Given the description of an element on the screen output the (x, y) to click on. 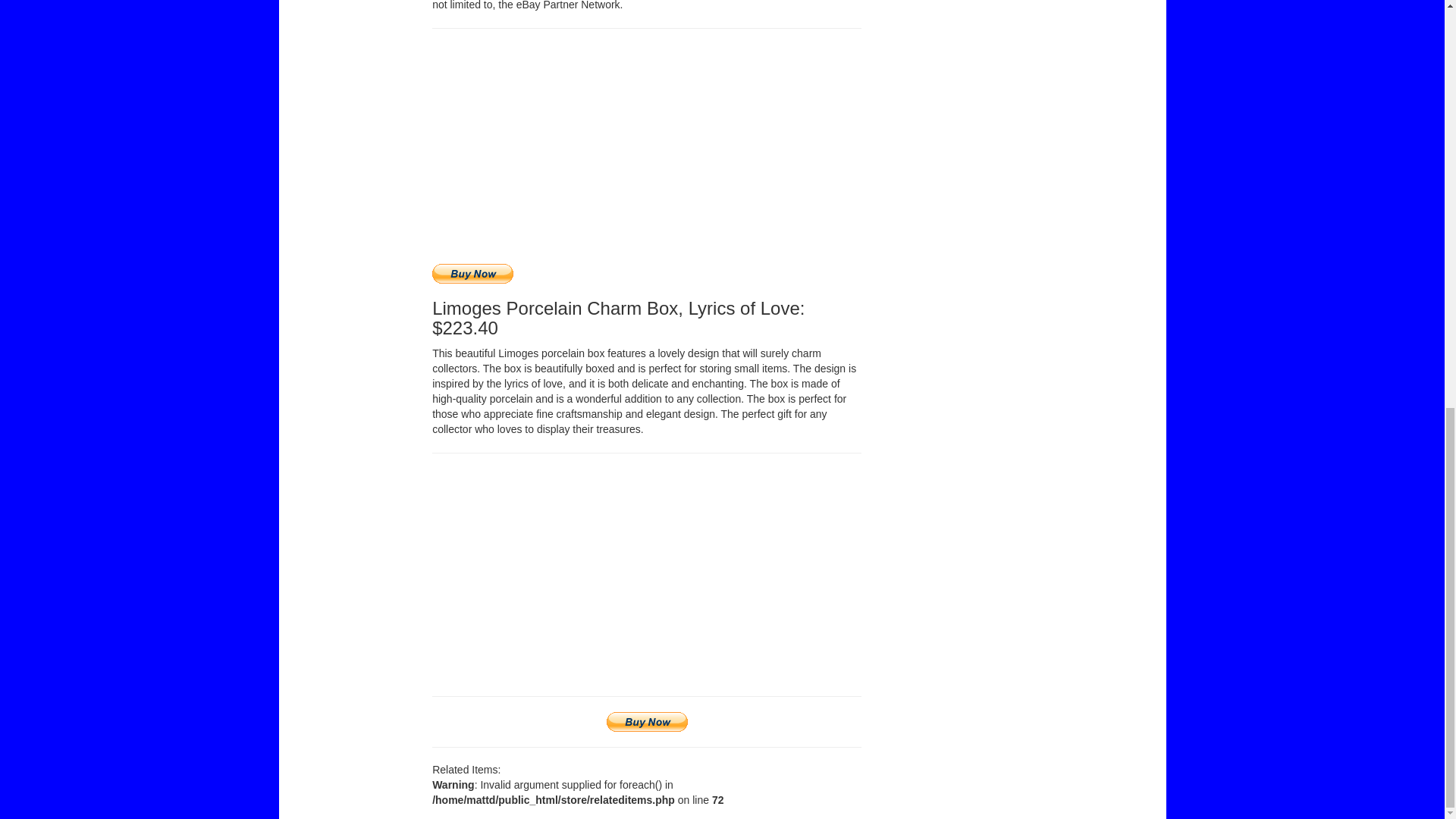
Buy Now (647, 721)
Advertisement (646, 574)
Advertisement (997, 3)
Advertisement (646, 150)
Buy Now (472, 273)
